Given the description of an element on the screen output the (x, y) to click on. 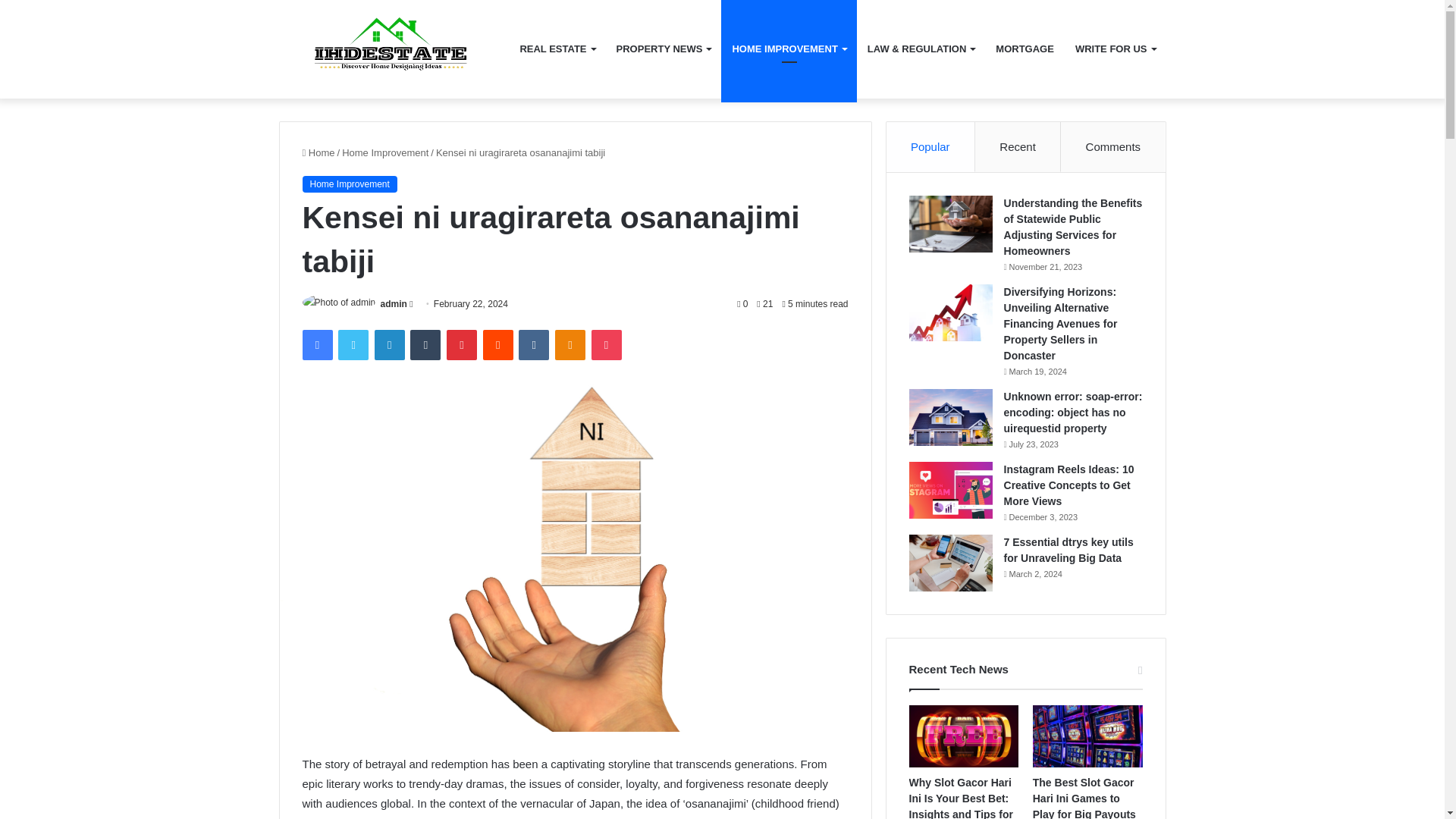
admin (393, 303)
Reddit (498, 345)
PROPERTY NEWS (663, 49)
Home Improvement (385, 152)
REAL ESTATE (556, 49)
WRITE FOR US (1115, 49)
VKontakte (533, 345)
LinkedIn (389, 345)
Pinterest (461, 345)
Reddit (498, 345)
